Given the description of an element on the screen output the (x, y) to click on. 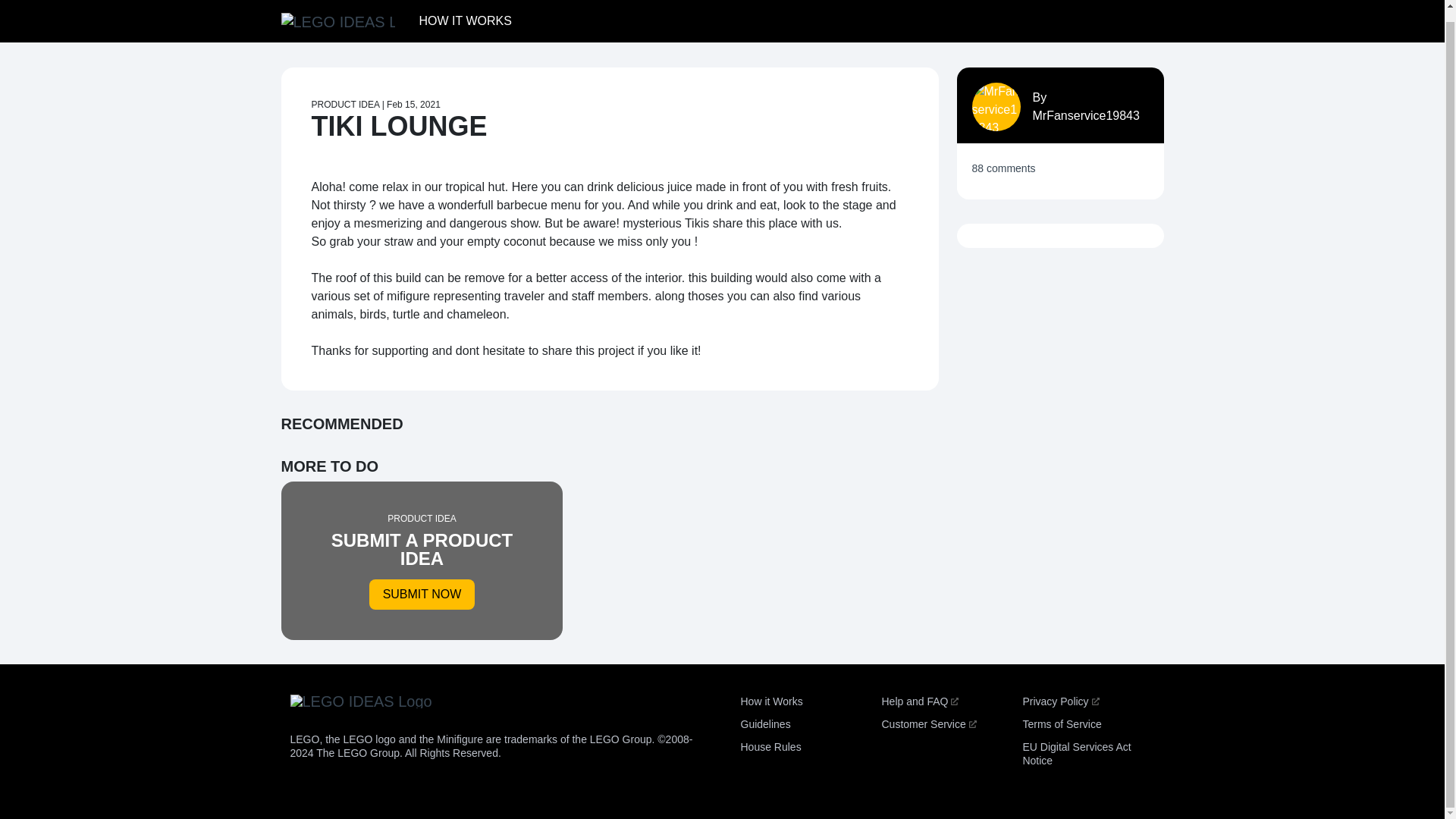
EU Digital Services Act Notice (1076, 753)
House Rules (769, 746)
Guidelines (764, 724)
How it Works (770, 701)
2021-02-15T08:10:21.561586Z (414, 104)
HOW IT WORKS (464, 12)
Help and FAQ (919, 701)
MrFanservice19843 (1086, 115)
Terms of Service (1061, 724)
Customer Service (927, 724)
